Given the description of an element on the screen output the (x, y) to click on. 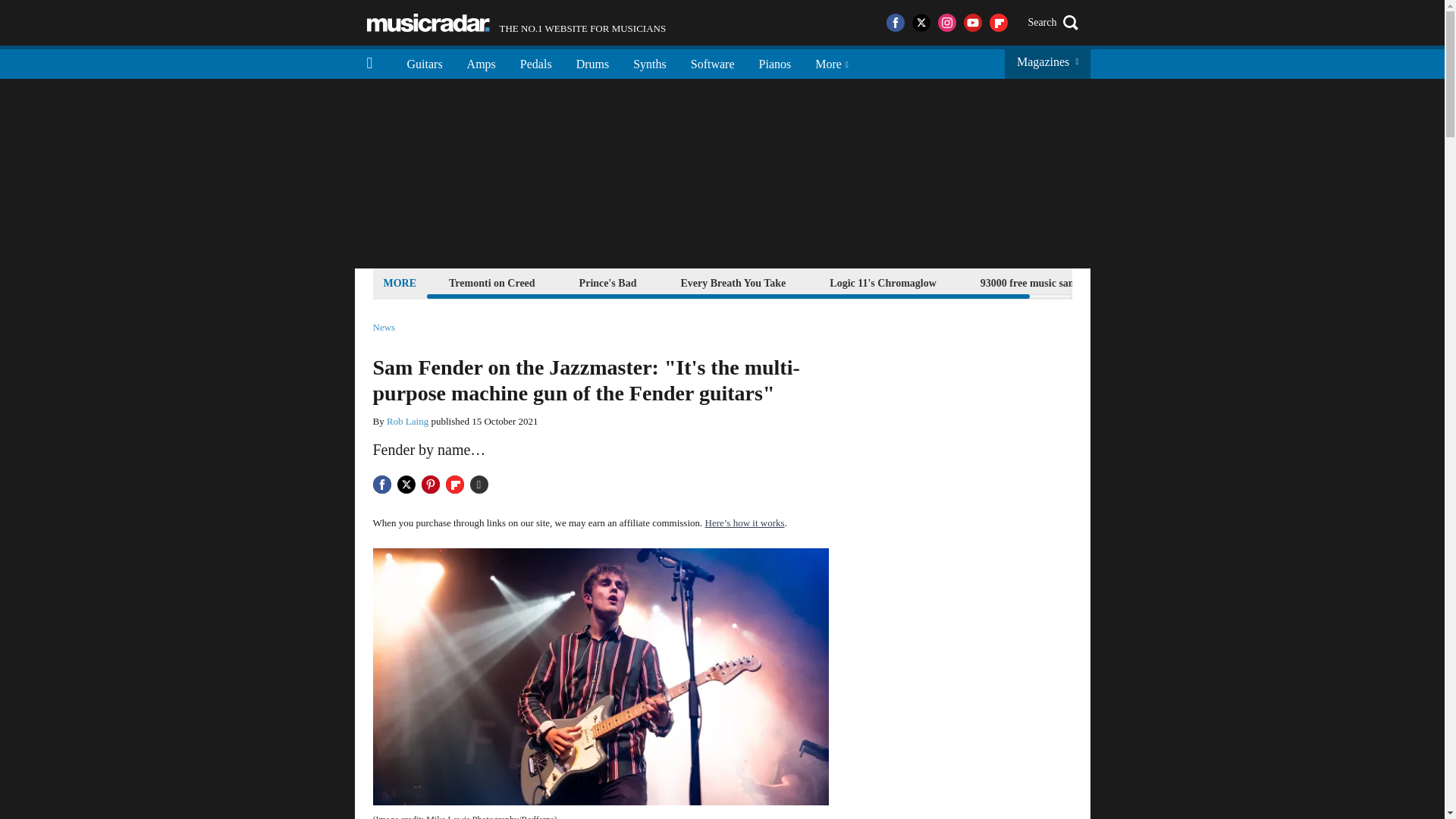
Logic 11's Chromaglow (883, 282)
Amps (481, 61)
Every Breath You Take (732, 282)
Prince's Bad (607, 282)
Software (712, 61)
Synths (649, 61)
93000 free music samples (1037, 282)
Pedals (536, 61)
Guitars (424, 61)
Pianos (774, 61)
Music Radar (427, 22)
Drums (592, 61)
Tremonti on Creed (492, 282)
